Given the description of an element on the screen output the (x, y) to click on. 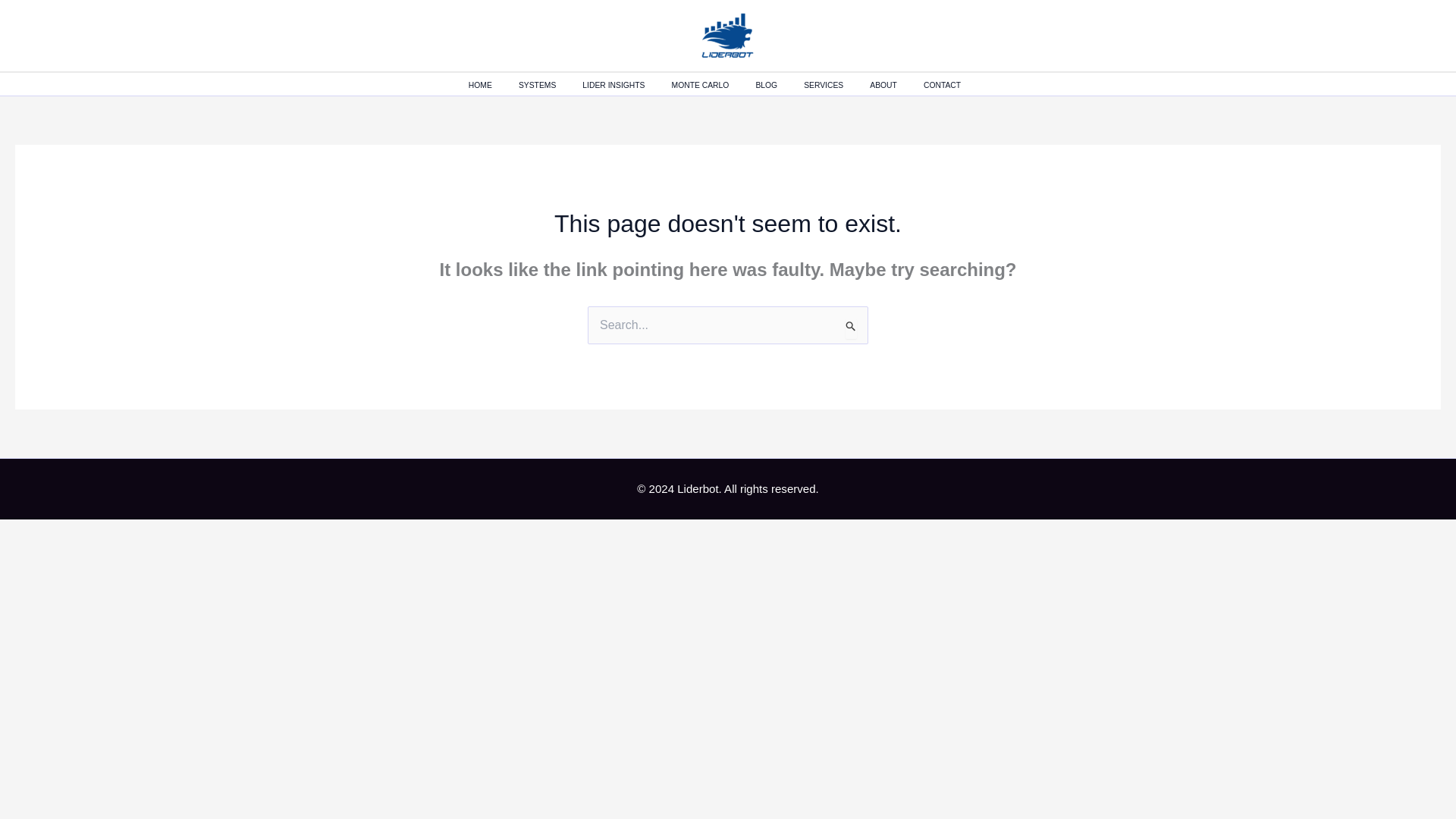
BLOG (779, 85)
HOME (493, 85)
SYSTEMS (550, 85)
SERVICES (836, 85)
ABOUT (896, 85)
CONTACT (955, 85)
MONTE CARLO (713, 85)
LIDER INSIGHTS (626, 85)
